Given the description of an element on the screen output the (x, y) to click on. 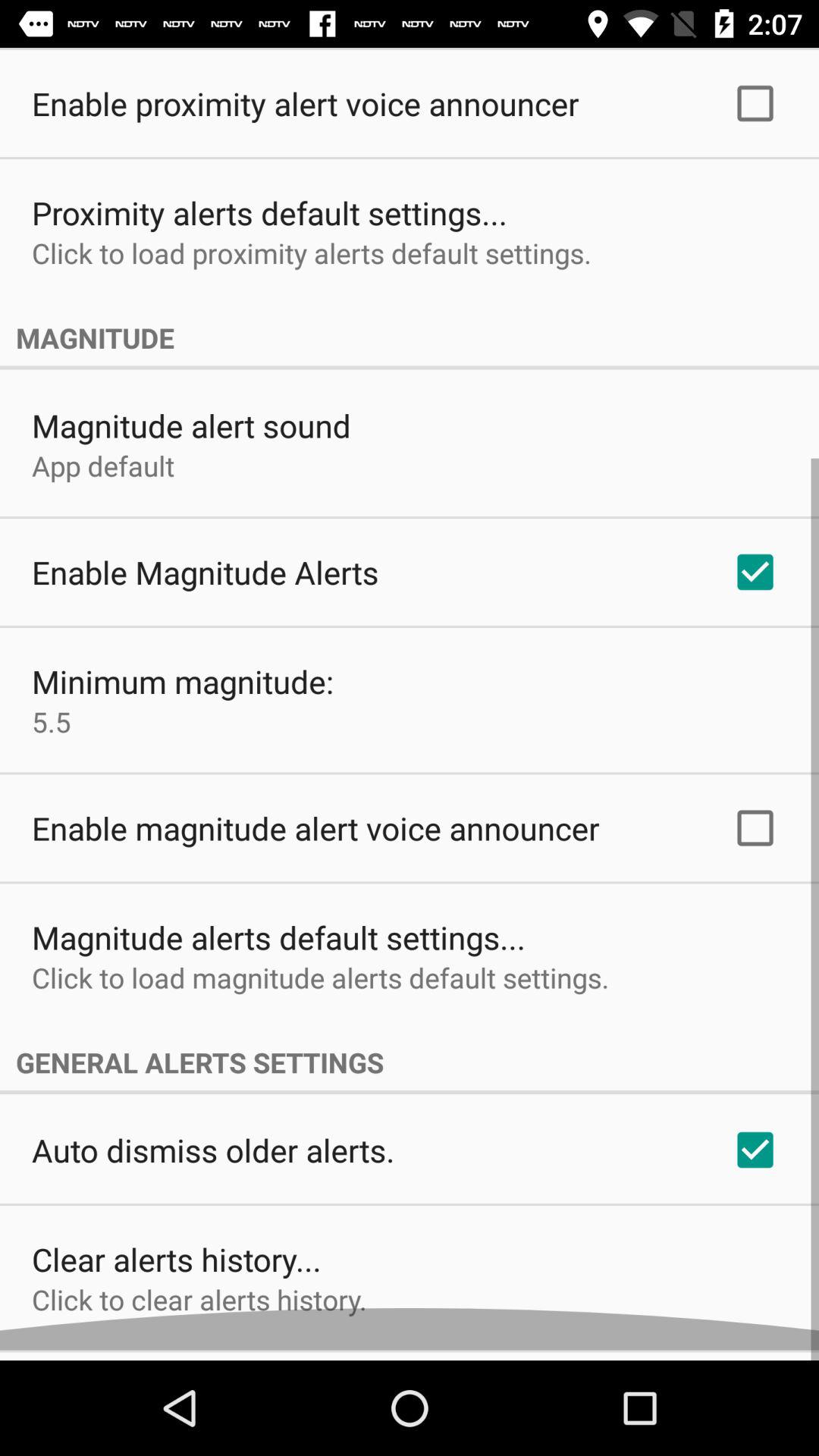
click the icon above the enable magnitude alerts app (102, 475)
